Given the description of an element on the screen output the (x, y) to click on. 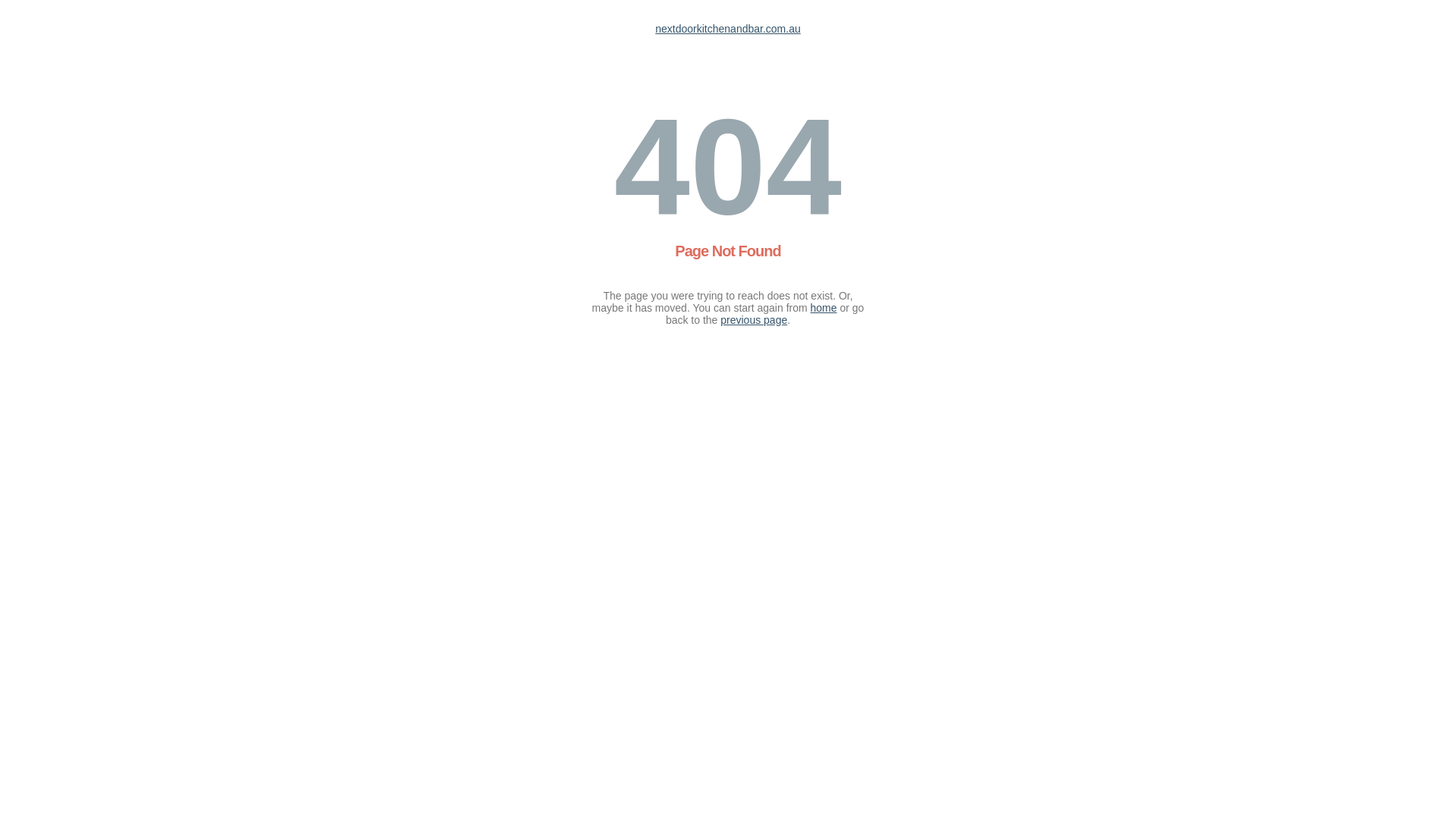
nextdoorkitchenandbar.com.au Element type: text (727, 28)
home Element type: text (823, 307)
previous page Element type: text (753, 319)
